Given the description of an element on the screen output the (x, y) to click on. 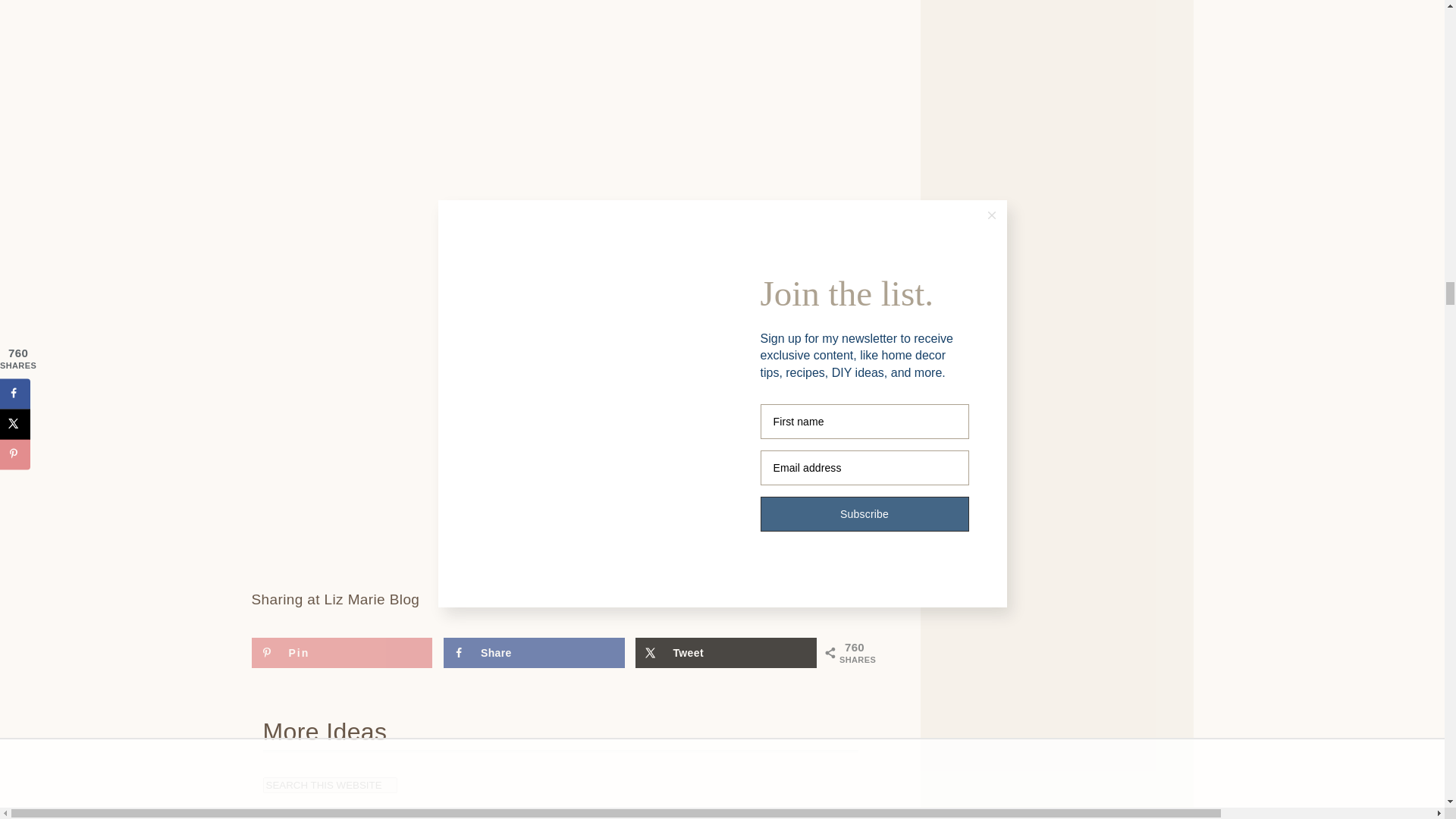
Save to Pinterest (341, 653)
Pin (341, 653)
Share on Facebook (534, 653)
Tweet (725, 653)
Share on X (725, 653)
Share (534, 653)
